Given the description of an element on the screen output the (x, y) to click on. 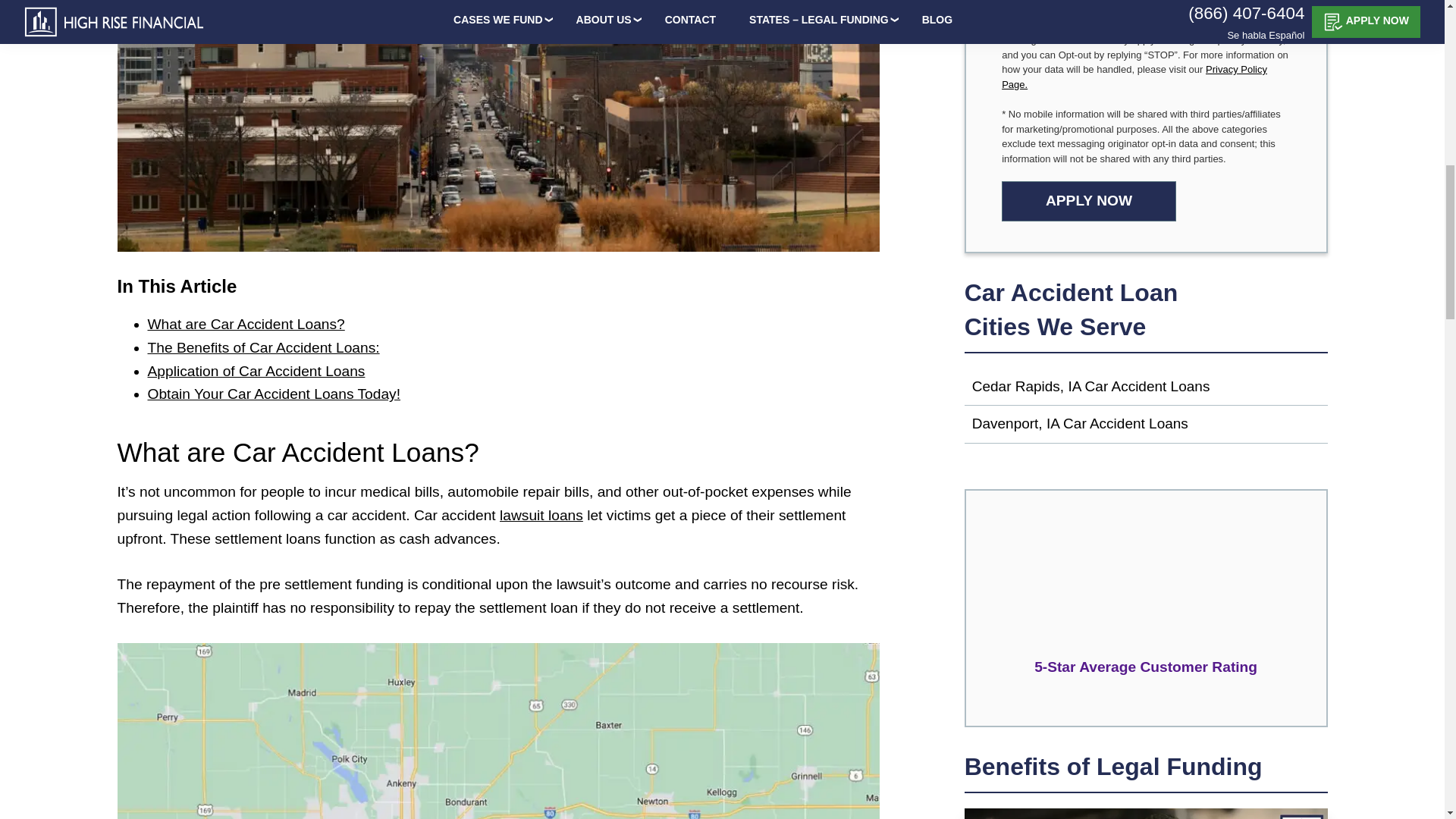
Obtain Your Car Accident Loans Today! (513, 394)
Apply Now (1088, 200)
The Benefits of Car Accident Loans: (513, 348)
What are Car Accident Loans? (513, 324)
Application of Car Accident Loans (513, 372)
